Given the description of an element on the screen output the (x, y) to click on. 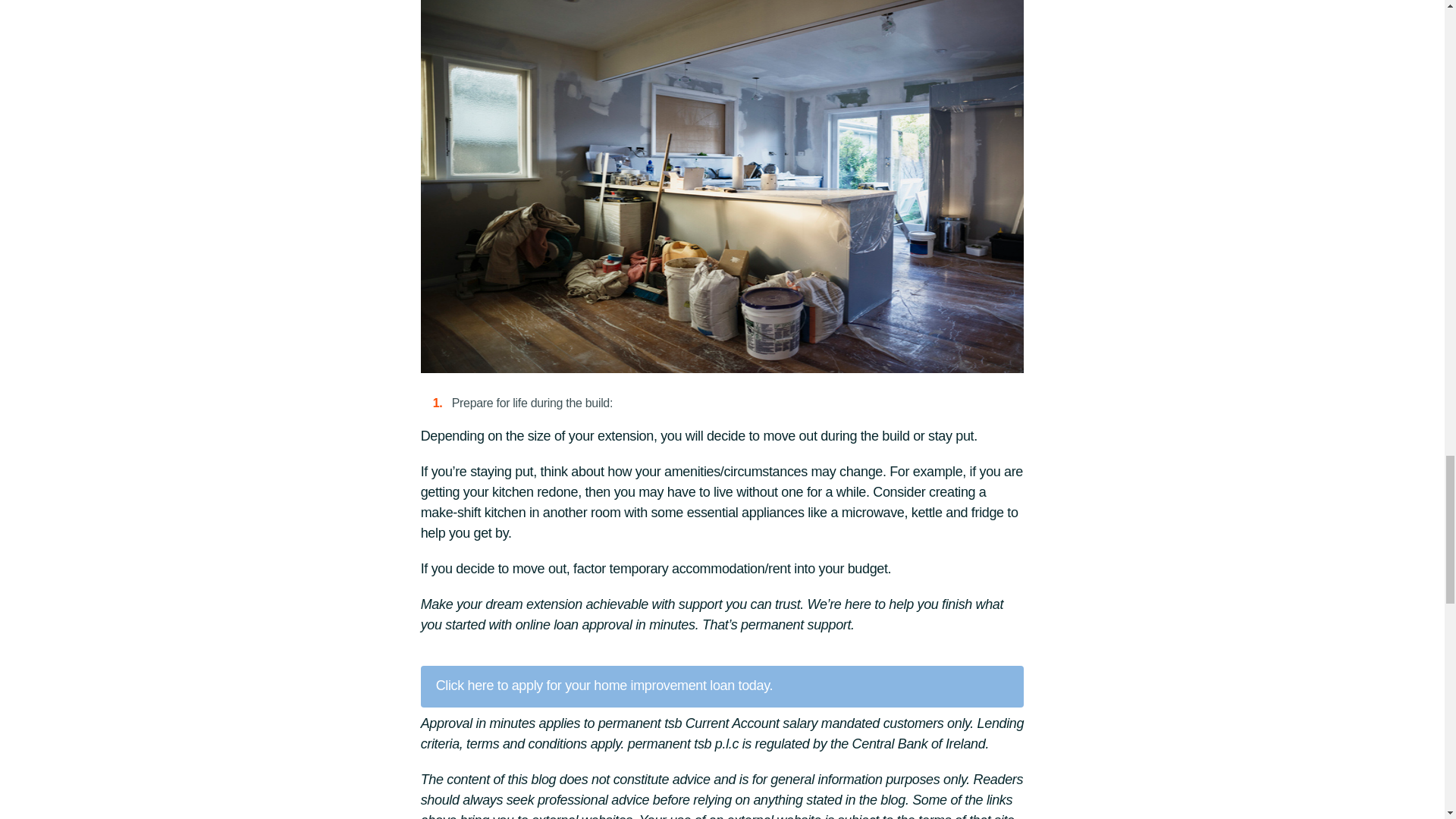
home improvement loan (664, 685)
